Given the description of an element on the screen output the (x, y) to click on. 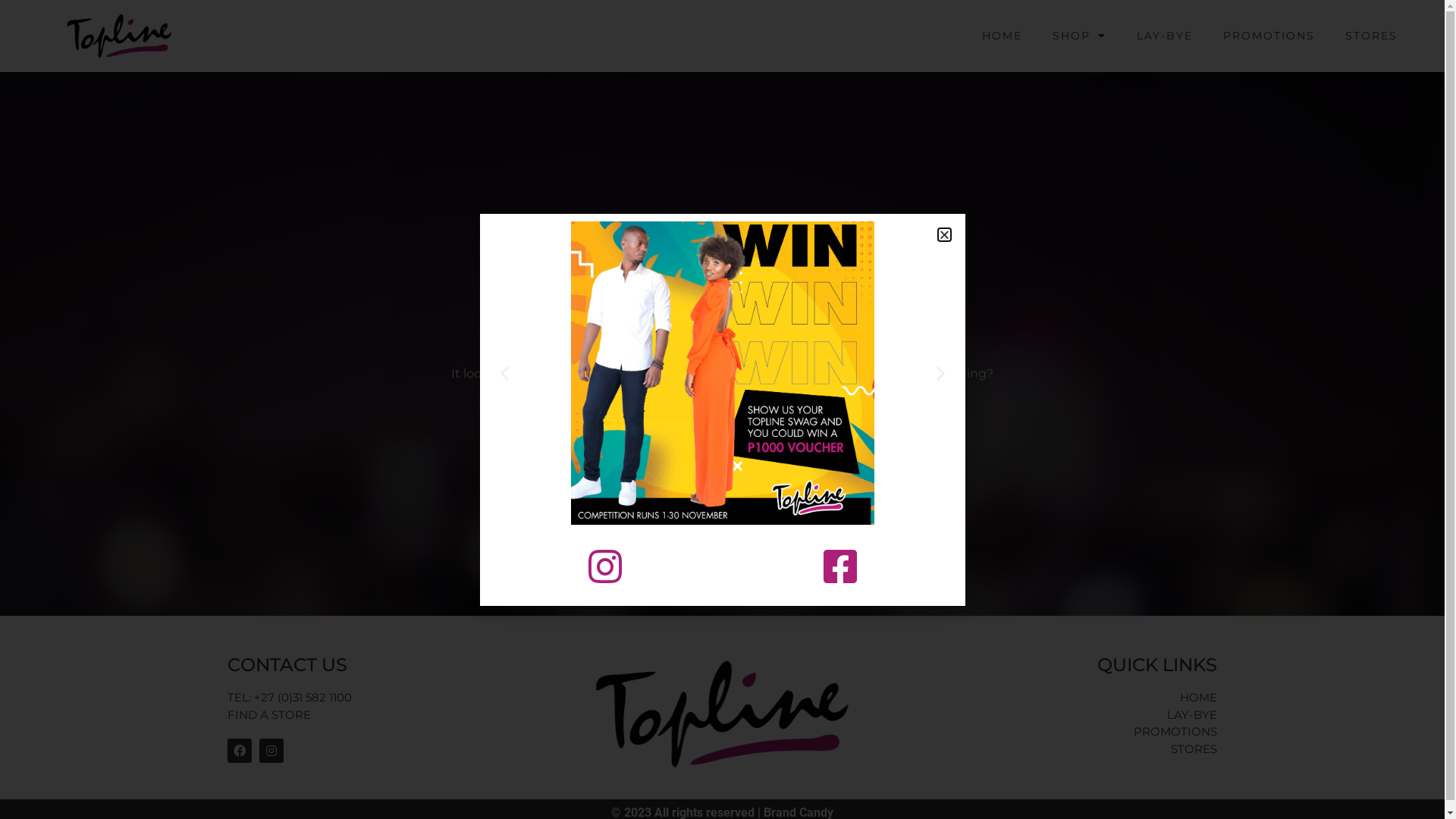
LAY-BYE Element type: text (1057, 715)
STORES Element type: text (1057, 749)
STORES Element type: text (1371, 35)
TEL: +27 (0)31 582 1100 Element type: text (356, 697)
RETURN TO HOMEPAGE Element type: text (722, 423)
HOME Element type: text (1057, 697)
PROMOTIONS Element type: text (1057, 731)
PROMOTIONS Element type: text (1269, 35)
FIND A STORE Element type: text (356, 715)
LAY-BYE Element type: text (1164, 35)
SHOP Element type: text (1079, 35)
HOME Element type: text (1001, 35)
